Given the description of an element on the screen output the (x, y) to click on. 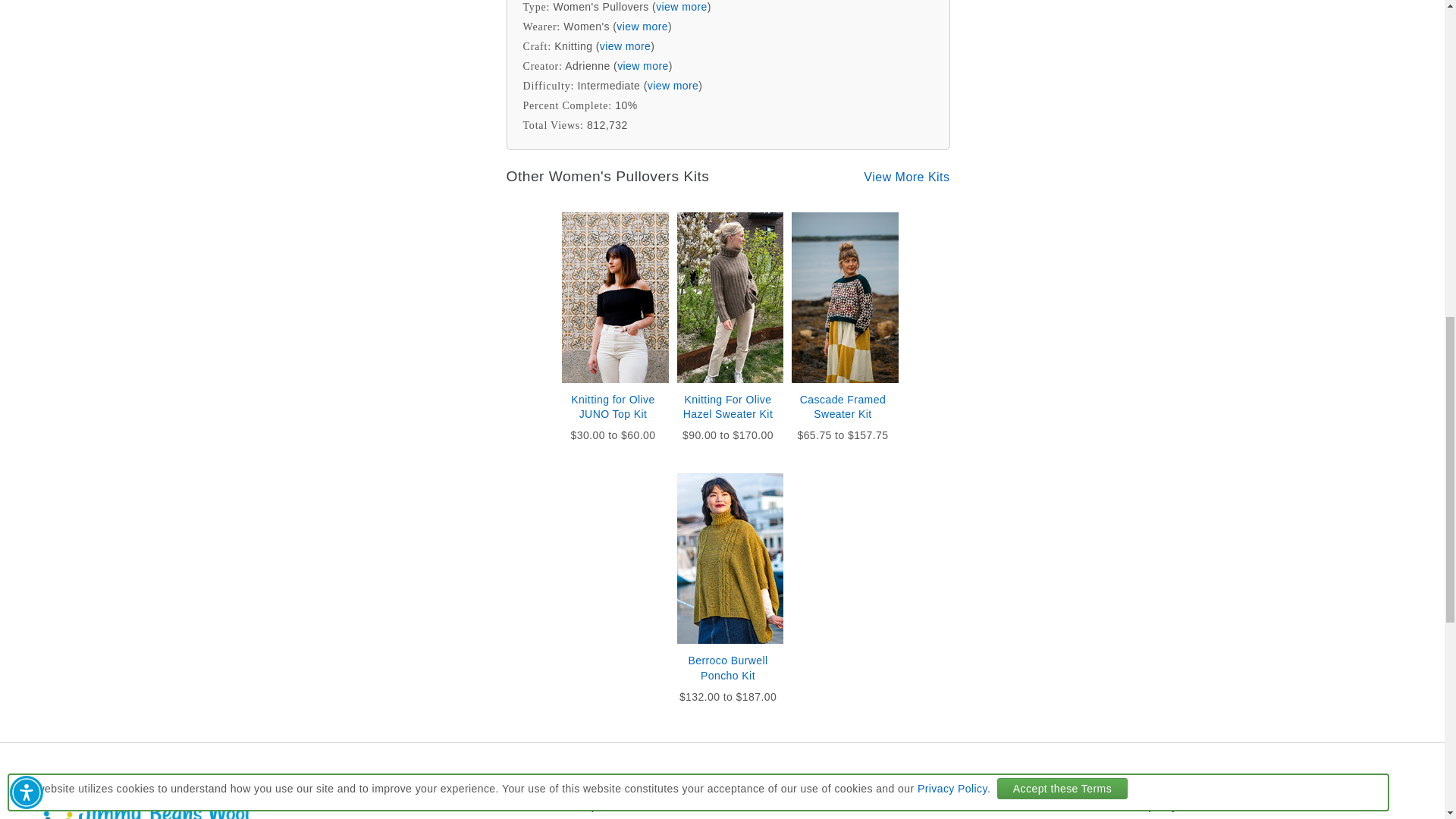
view more (641, 26)
view more (624, 46)
view more (642, 65)
view more (681, 6)
